Given the description of an element on the screen output the (x, y) to click on. 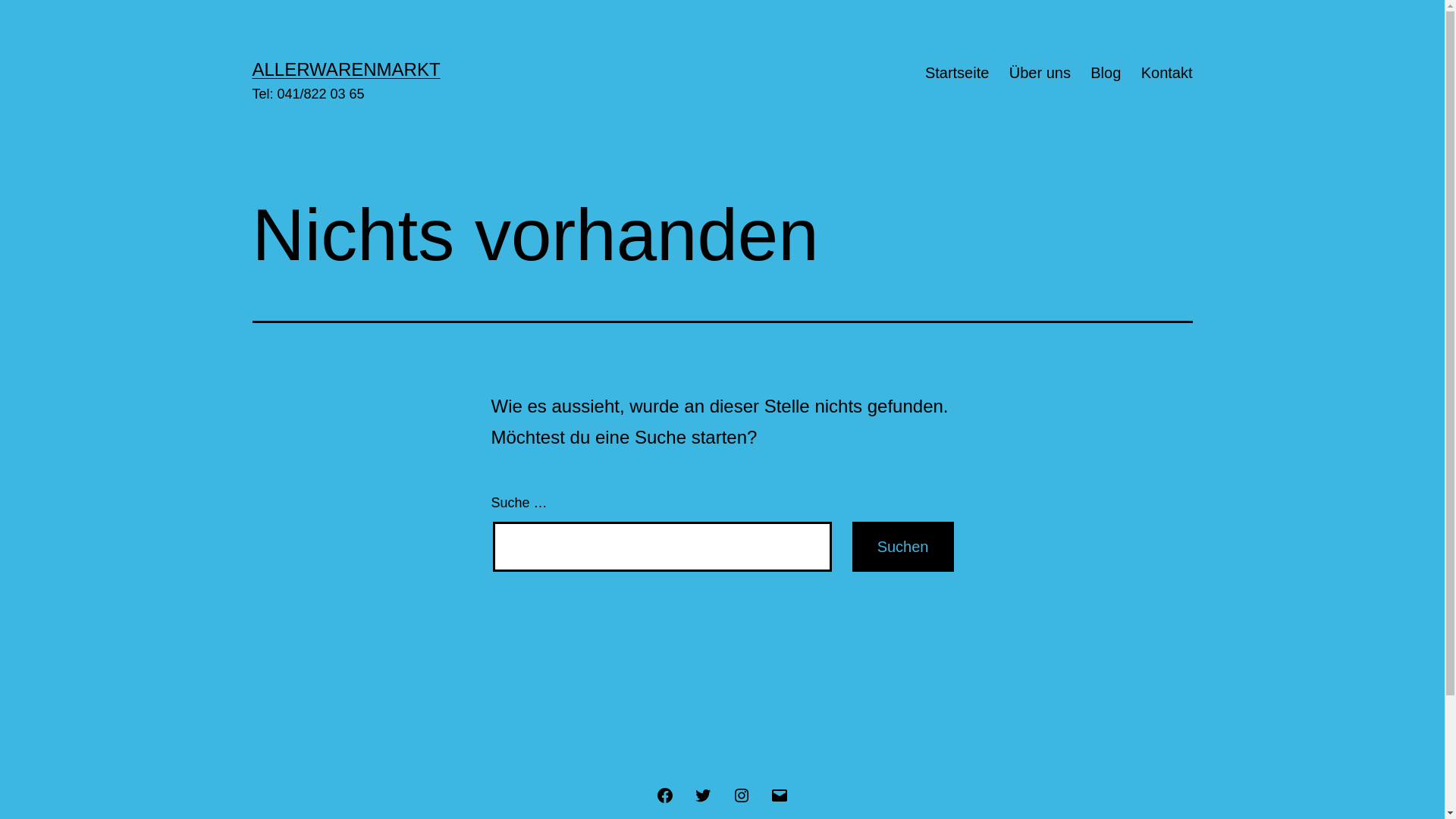
Blog Element type: text (1105, 72)
Startseite Element type: text (957, 72)
Kontakt Element type: text (1165, 72)
Twitter Element type: text (702, 794)
E-Mail Element type: text (779, 794)
ALLERWARENMARKT Element type: text (345, 69)
Facebook Element type: text (665, 794)
Suchen Element type: text (902, 546)
Instagram Element type: text (740, 794)
